Given the description of an element on the screen output the (x, y) to click on. 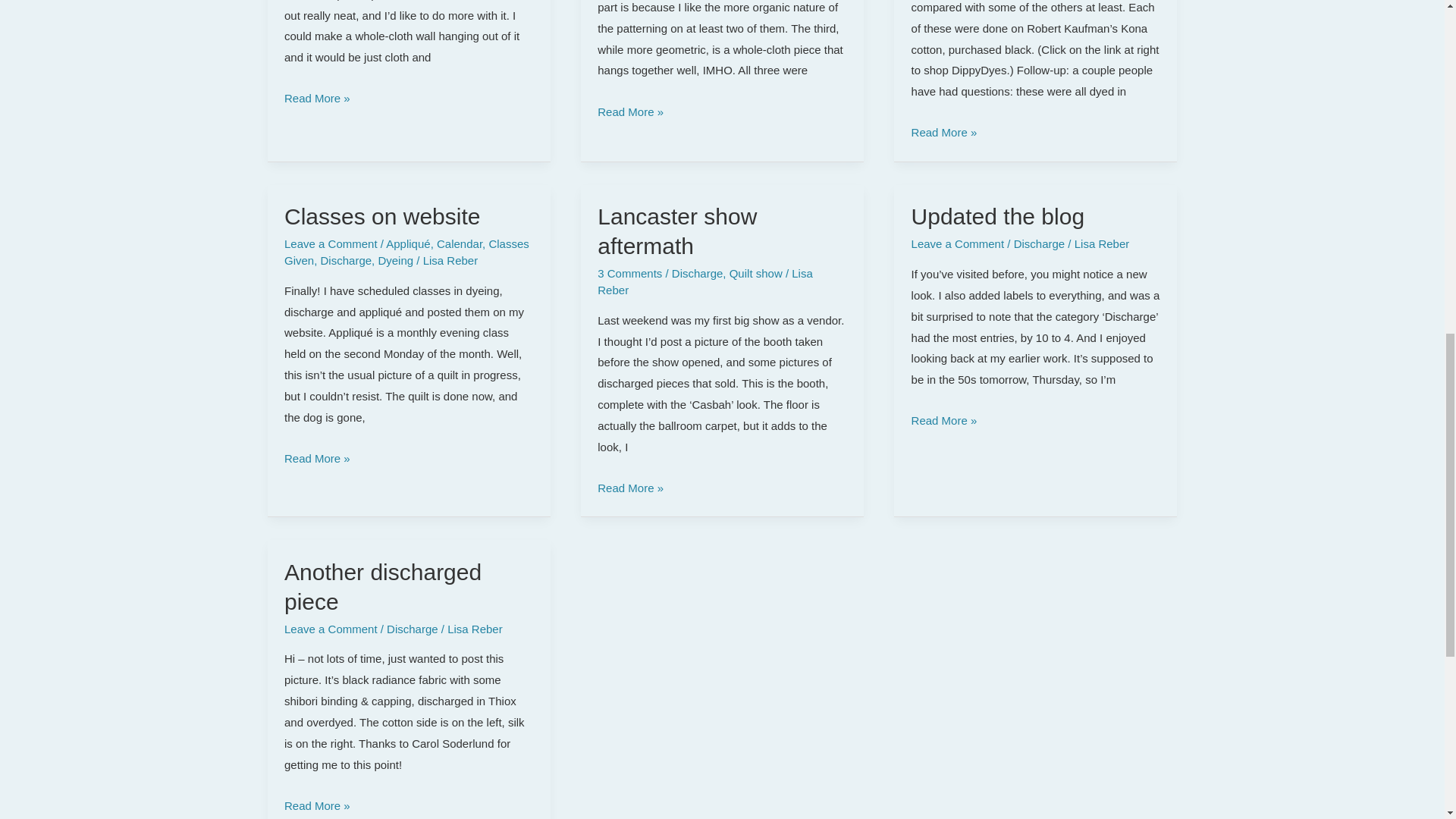
View all posts by Lisa Reber (451, 259)
View all posts by Lisa Reber (704, 281)
View all posts by Lisa Reber (1101, 243)
View all posts by Lisa Reber (474, 628)
